Given the description of an element on the screen output the (x, y) to click on. 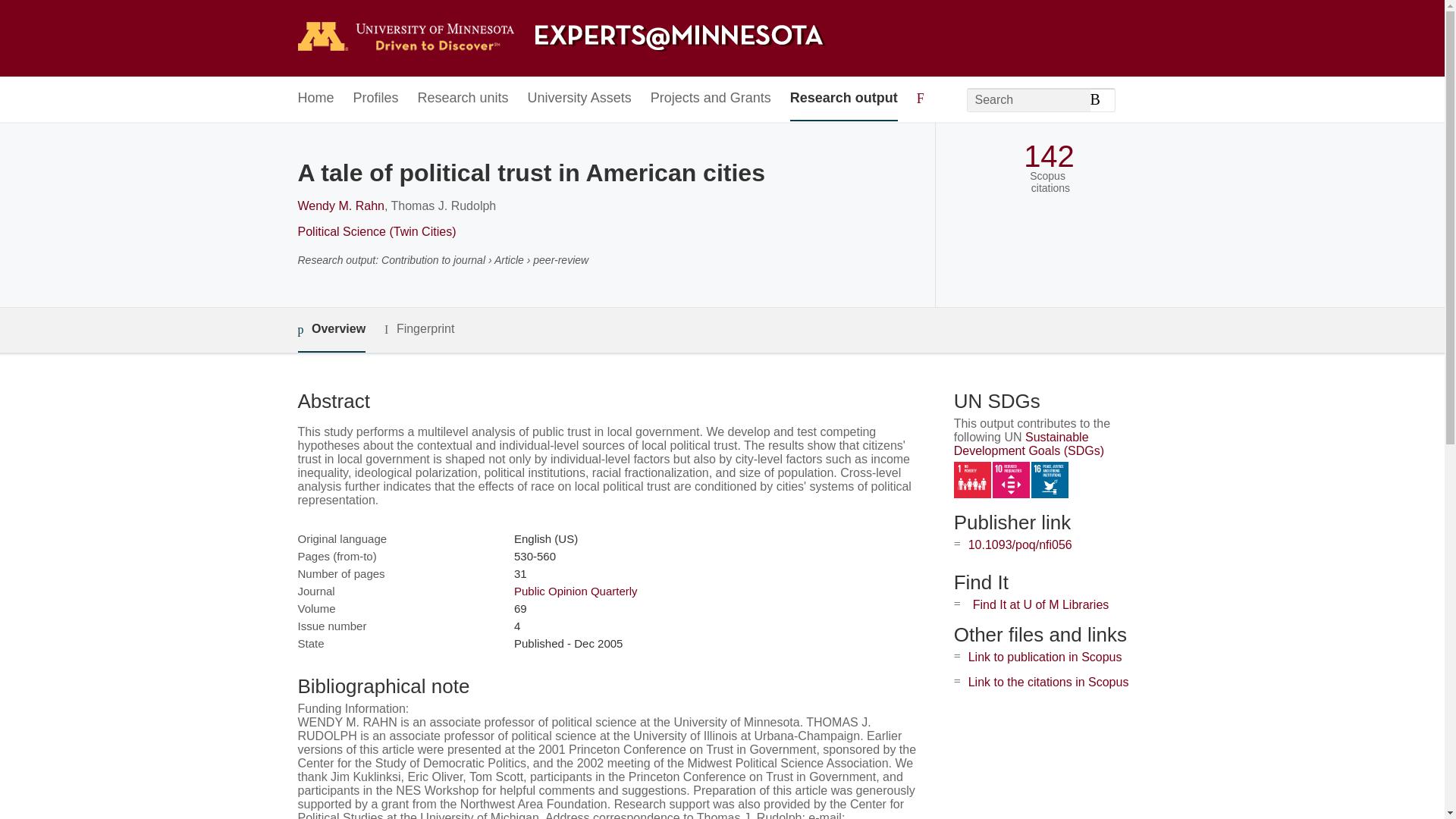
SDG 1 - No Poverty (972, 479)
142 (1048, 156)
Wendy M. Rahn (340, 205)
SDG 16 - Peace, Justice and Strong Institutions (1049, 479)
SDG 10 - Reduced Inequalities (1010, 479)
Link to the citations in Scopus (1048, 681)
Research output (844, 98)
Profiles (375, 98)
Research units (462, 98)
Fingerprint (419, 329)
University Assets (579, 98)
Public Opinion Quarterly (575, 590)
Projects and Grants (710, 98)
Link to publication in Scopus (1045, 656)
